Given the description of an element on the screen output the (x, y) to click on. 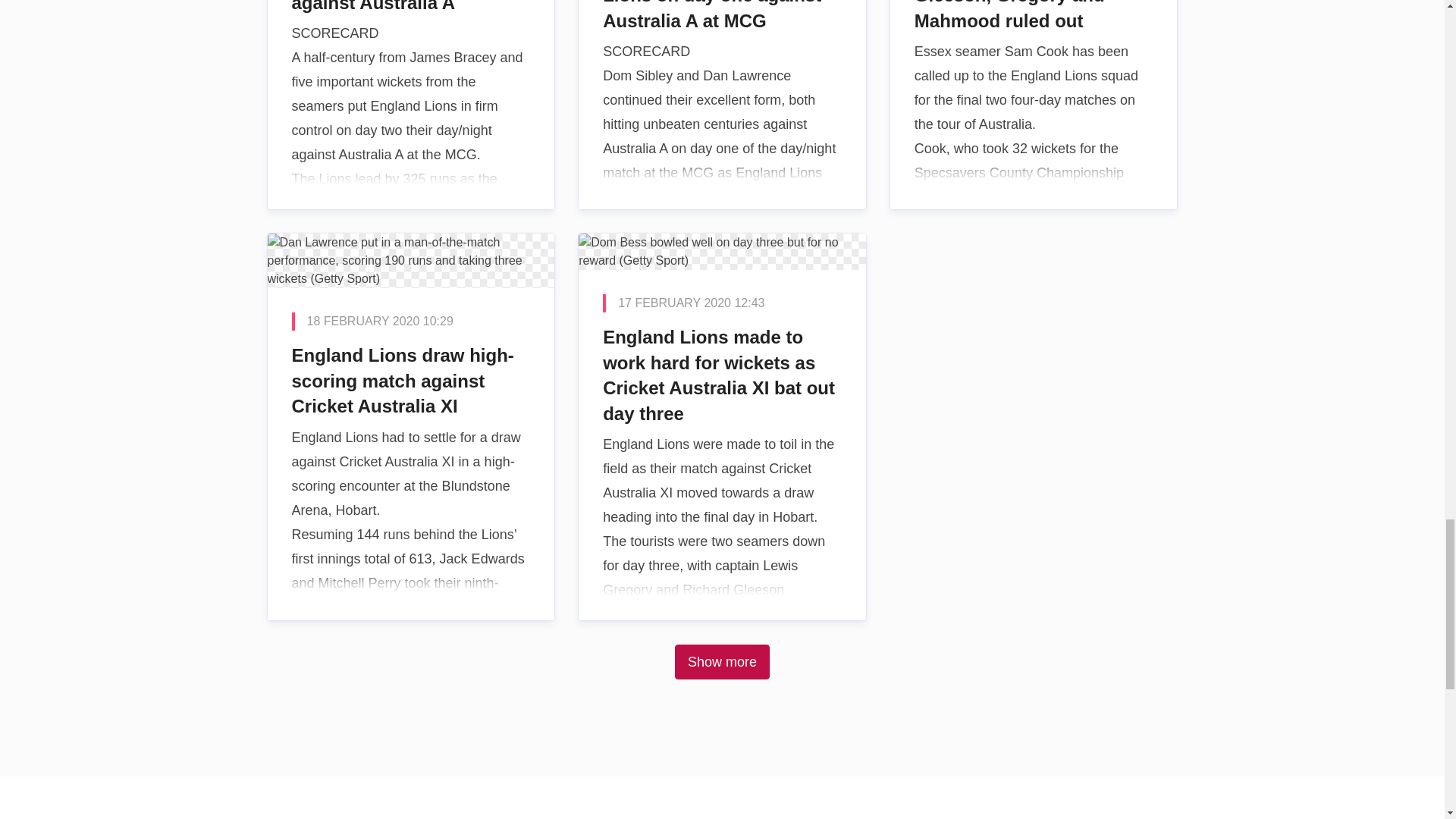
Show more (722, 661)
